Given the description of an element on the screen output the (x, y) to click on. 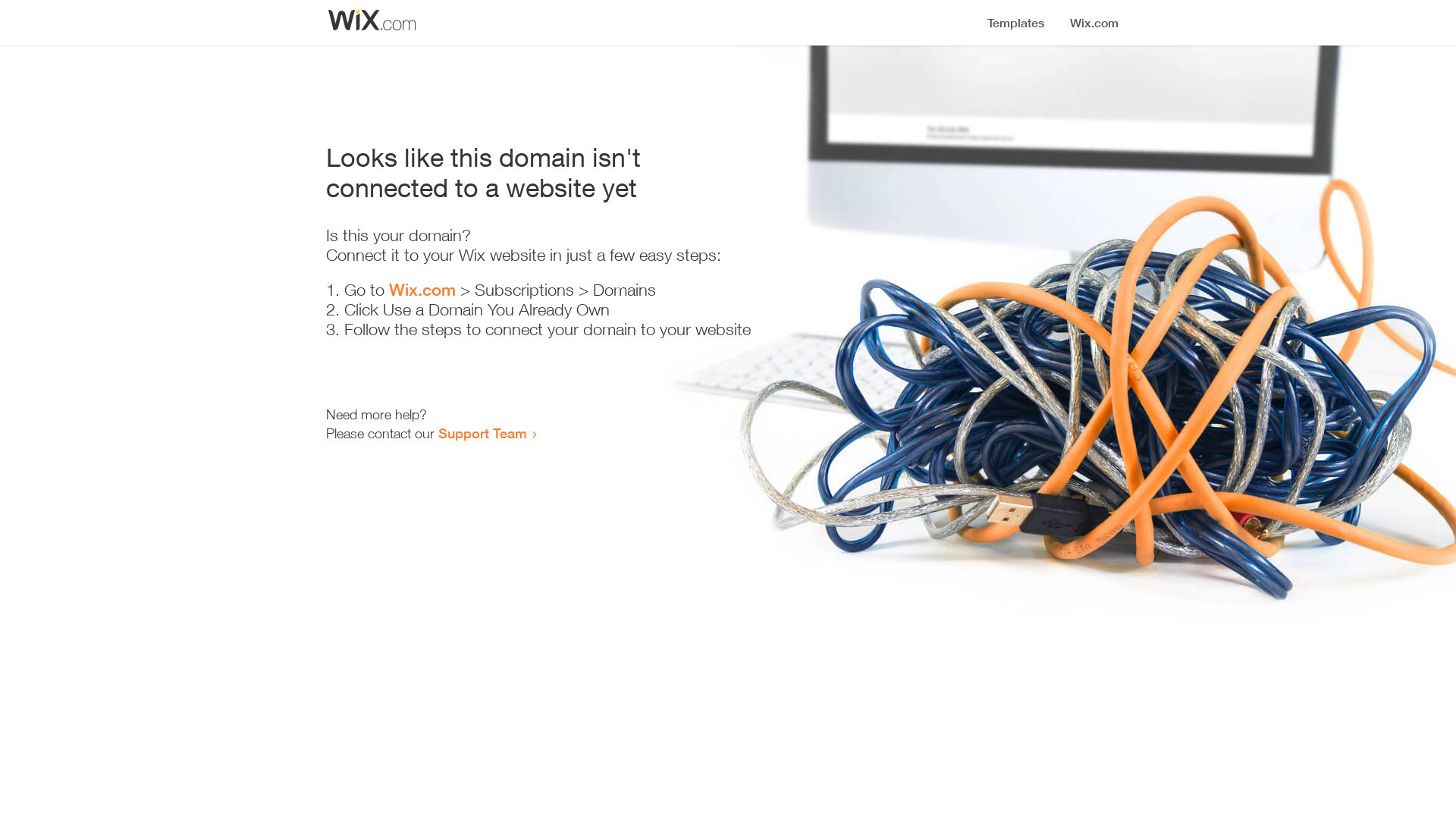
Wix.com Element type: text (422, 289)
Support Team Element type: text (482, 432)
